Given the description of an element on the screen output the (x, y) to click on. 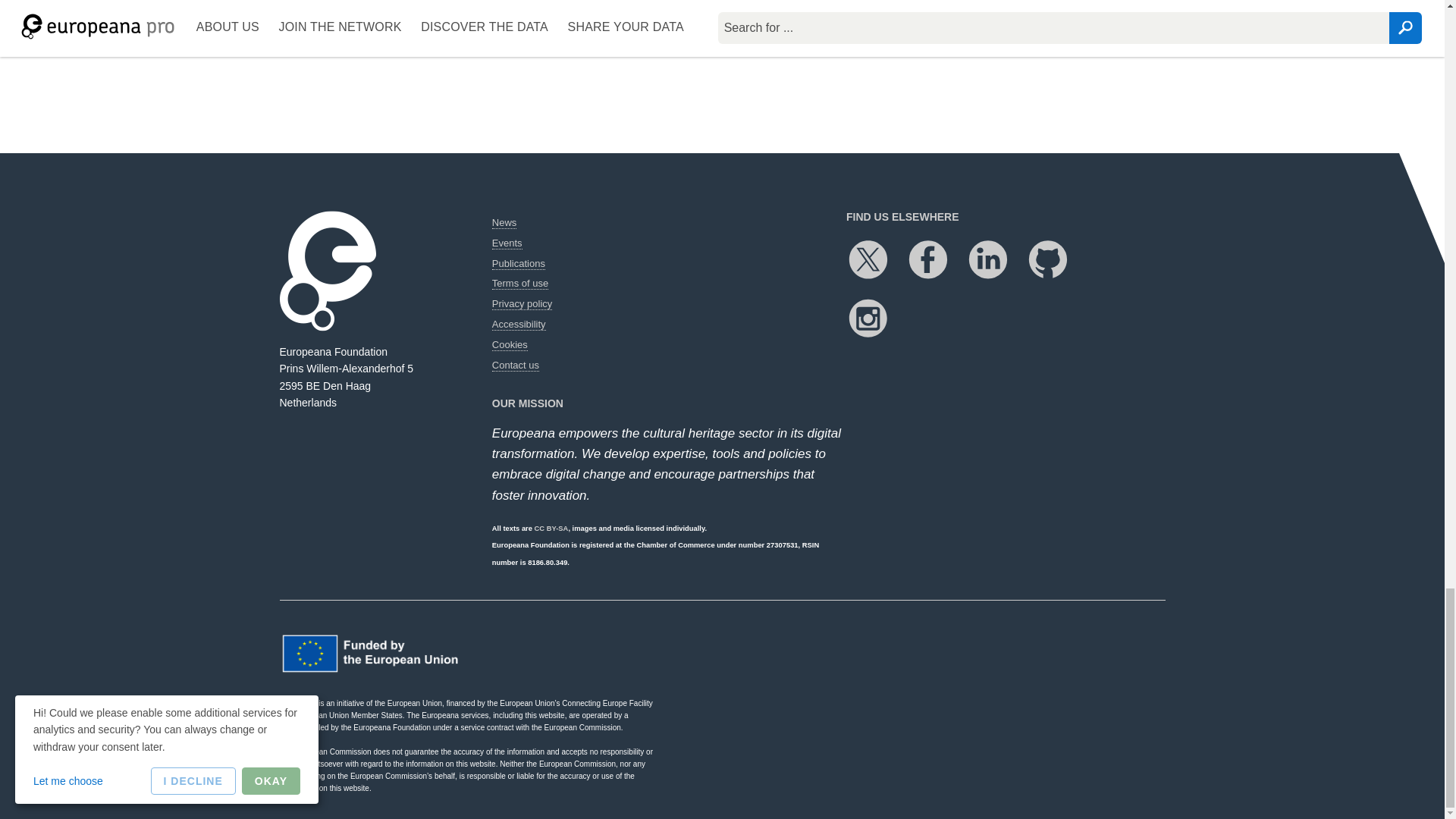
News (504, 223)
Publications (518, 263)
Events (507, 243)
